Given the description of an element on the screen output the (x, y) to click on. 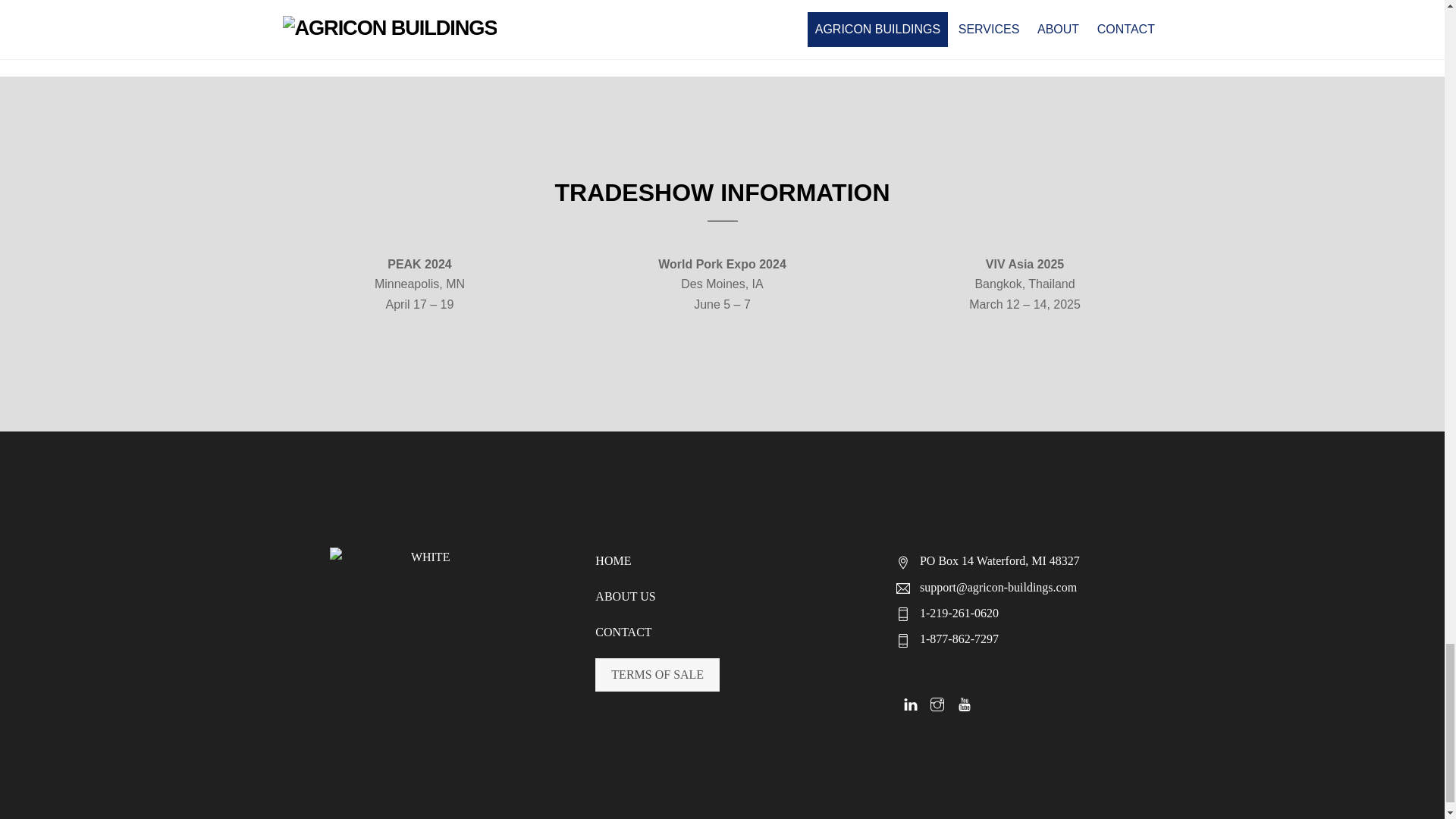
TOUR A FREE-RANGE CAGE-FREE HOUSE (1200, 18)
TOUR AN ENRICHED HOUSE (722, 18)
HOME (612, 560)
CONTACT (622, 631)
ABOUT US (625, 595)
TERMS OF SALE (657, 674)
TOUR A COMBI CAGE-FREE HOUSE (243, 18)
